Given the description of an element on the screen output the (x, y) to click on. 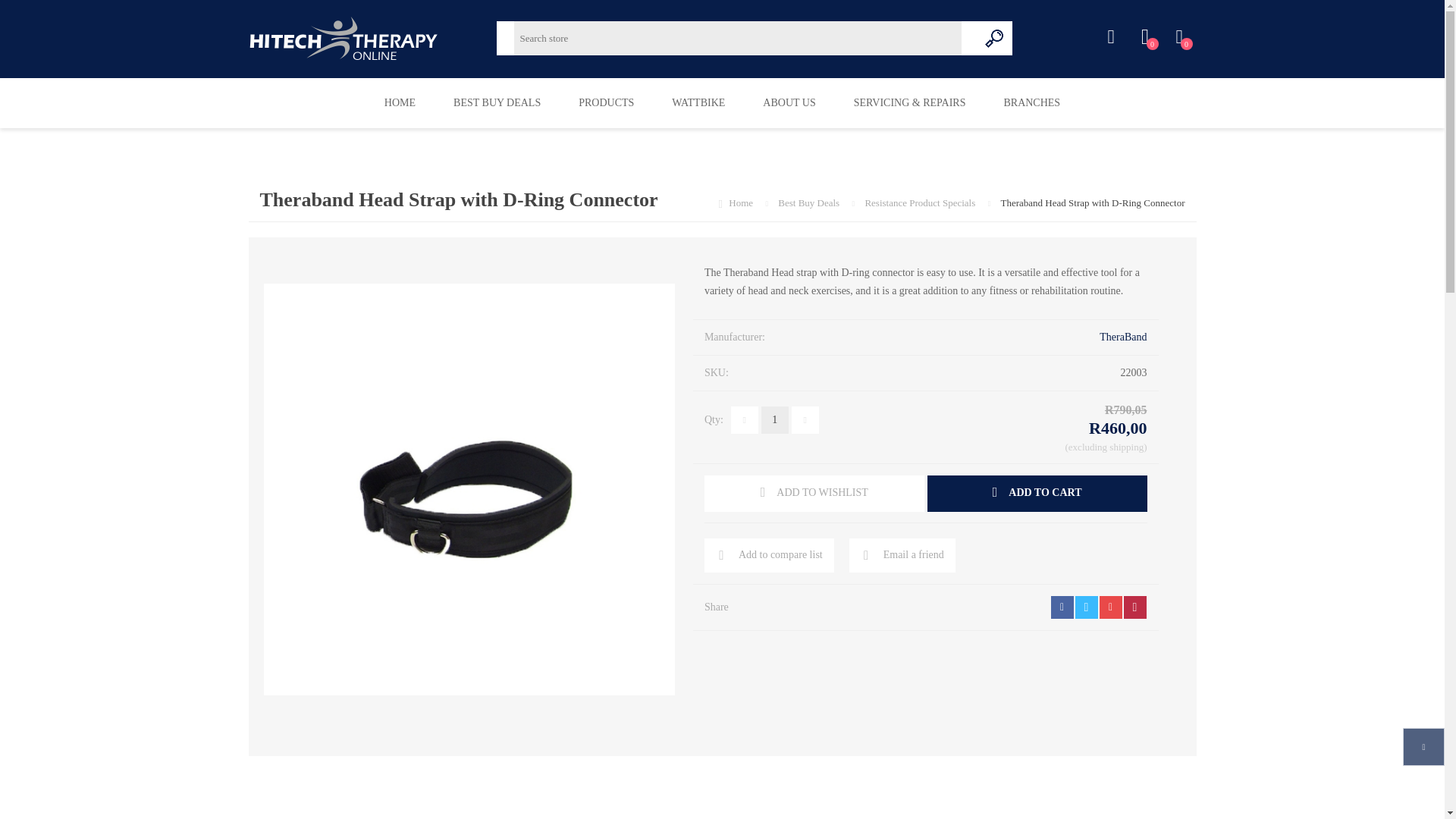
1 (775, 420)
WATTBIKE (698, 102)
ABOUT US (789, 102)
BEST BUY DEALS (496, 102)
HOME (399, 102)
Best Buy Deals (809, 202)
PRODUCTS (605, 102)
Shopping cart (1178, 37)
Branches (1031, 102)
BRANCHES (1031, 102)
Search (994, 38)
Home (1144, 37)
